Given the description of an element on the screen output the (x, y) to click on. 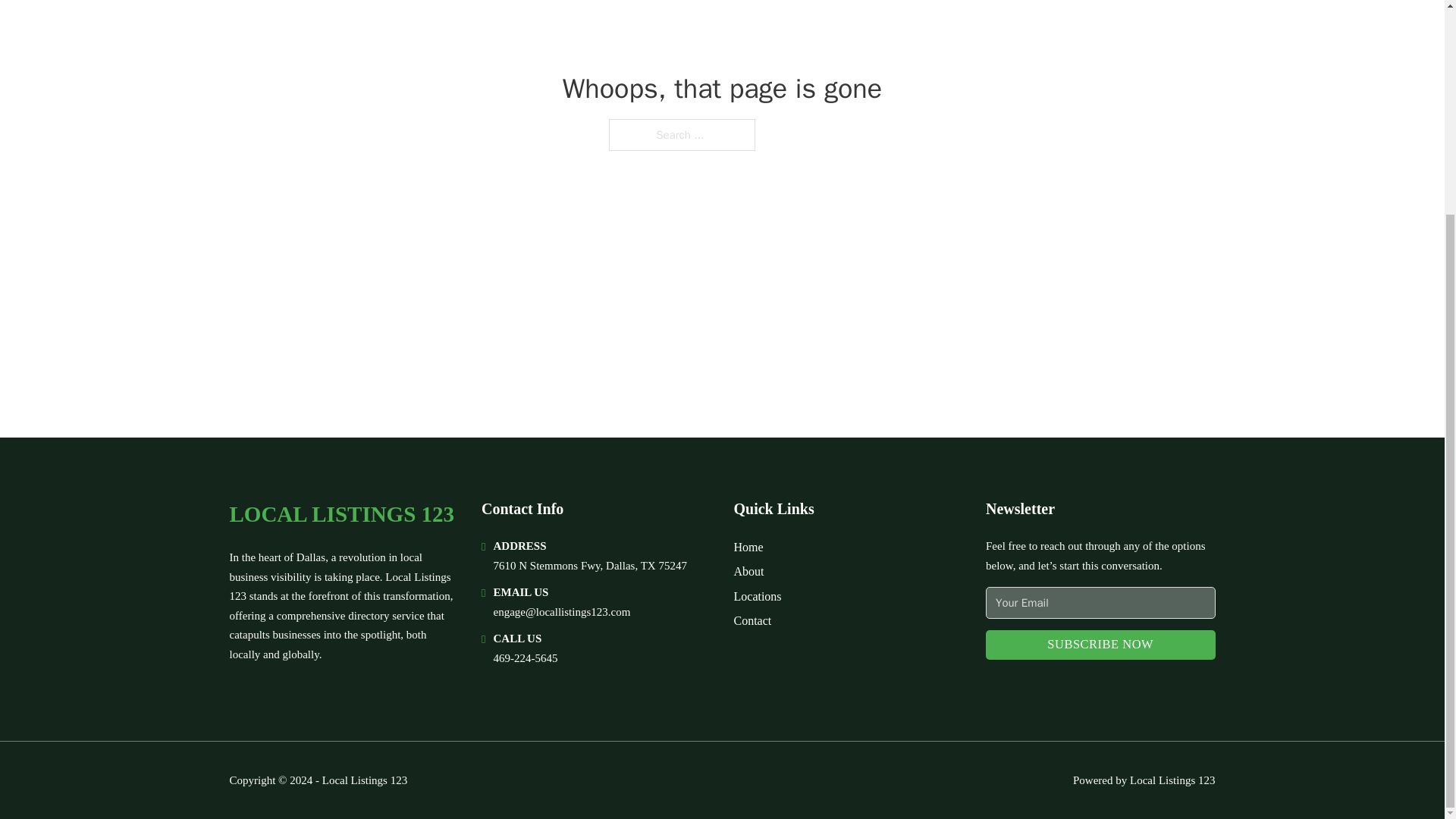
Locations (757, 596)
Contact (752, 620)
About (748, 571)
Home (747, 547)
SUBSCRIBE NOW (1100, 644)
469-224-5645 (525, 657)
LOCAL LISTINGS 123 (341, 514)
